Given the description of an element on the screen output the (x, y) to click on. 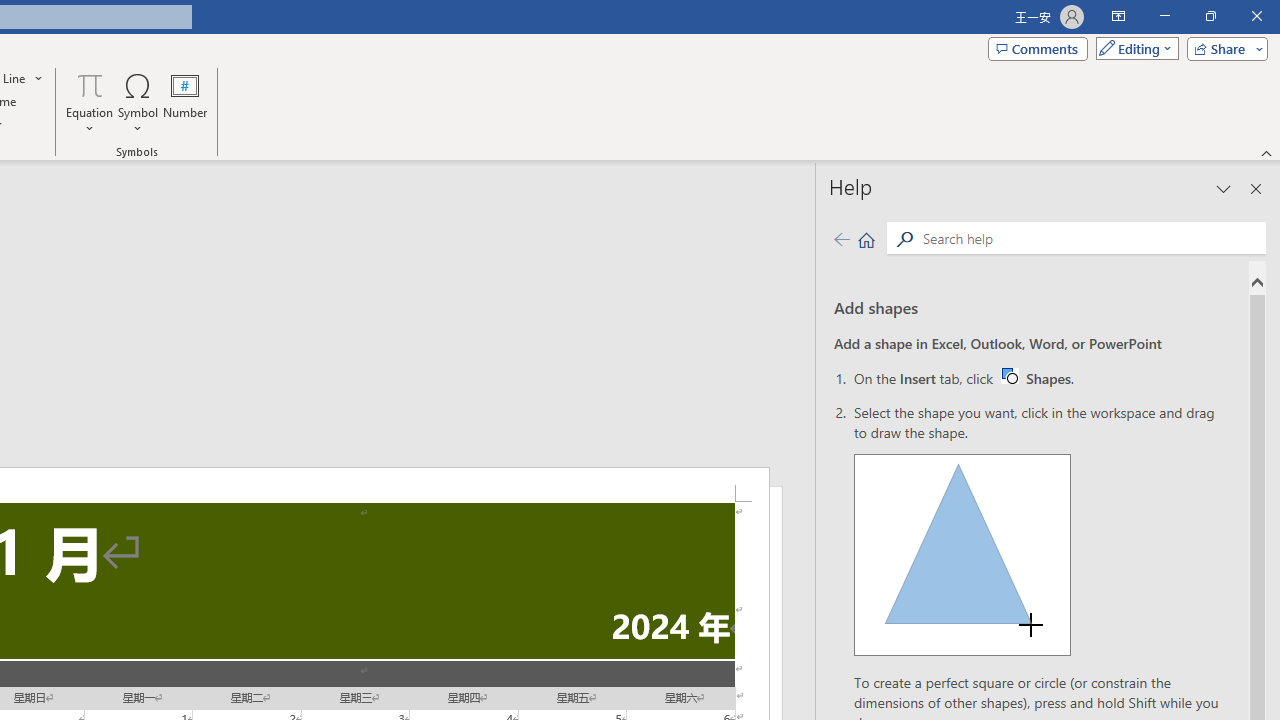
Symbol (138, 102)
Previous page (1036, 377)
Word W32 Shapes button icon (841, 238)
